Given the description of an element on the screen output the (x, y) to click on. 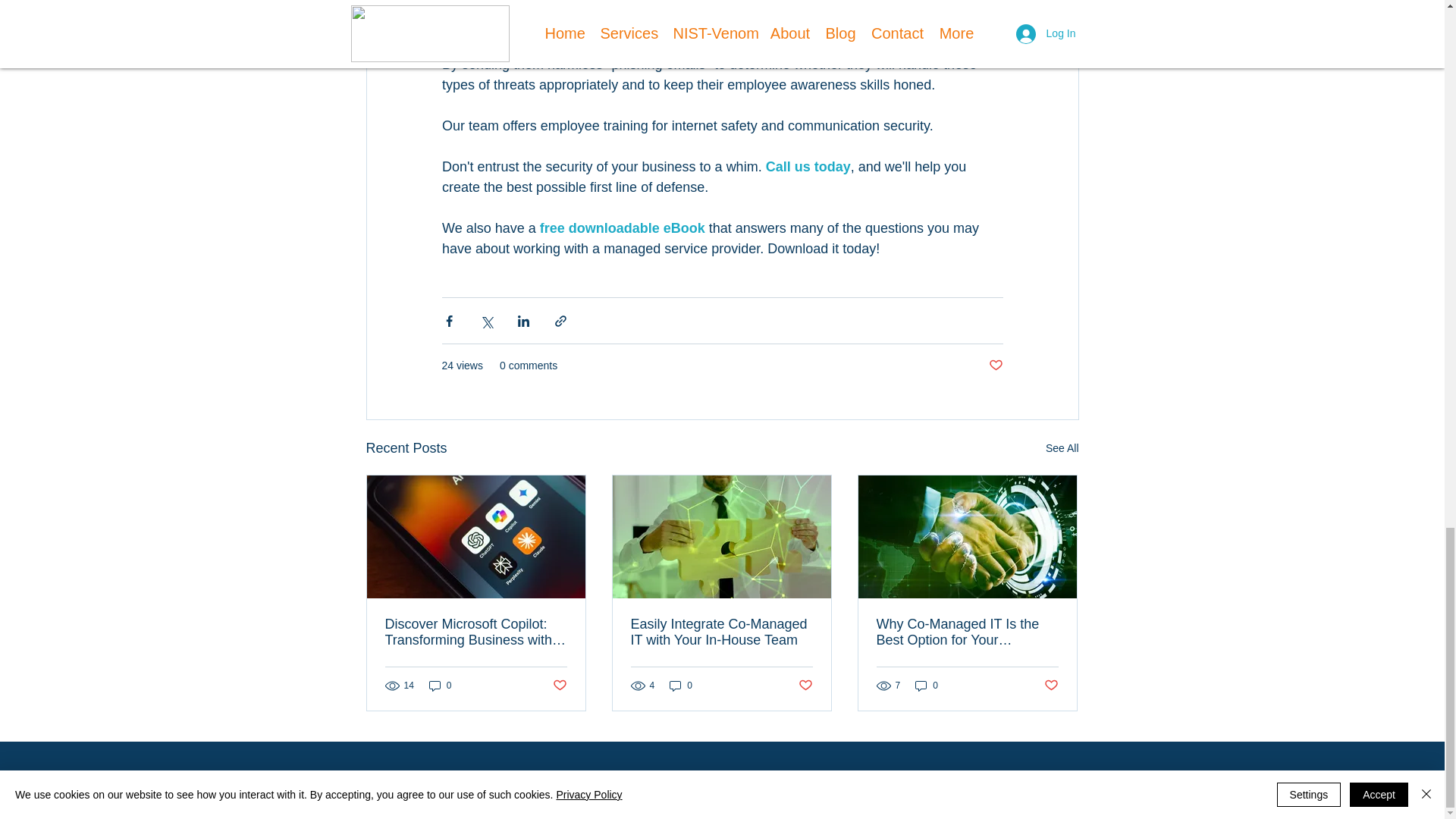
Easily Integrate Co-Managed IT with Your In-House Team (721, 632)
Post not marked as liked (804, 685)
Post not marked as liked (1050, 685)
Why Co-Managed IT Is the Best Option for Your Company (967, 632)
Post not marked as liked (558, 685)
0 (681, 685)
Post not marked as liked (995, 365)
Call us today (807, 166)
0 (926, 685)
